Given the description of an element on the screen output the (x, y) to click on. 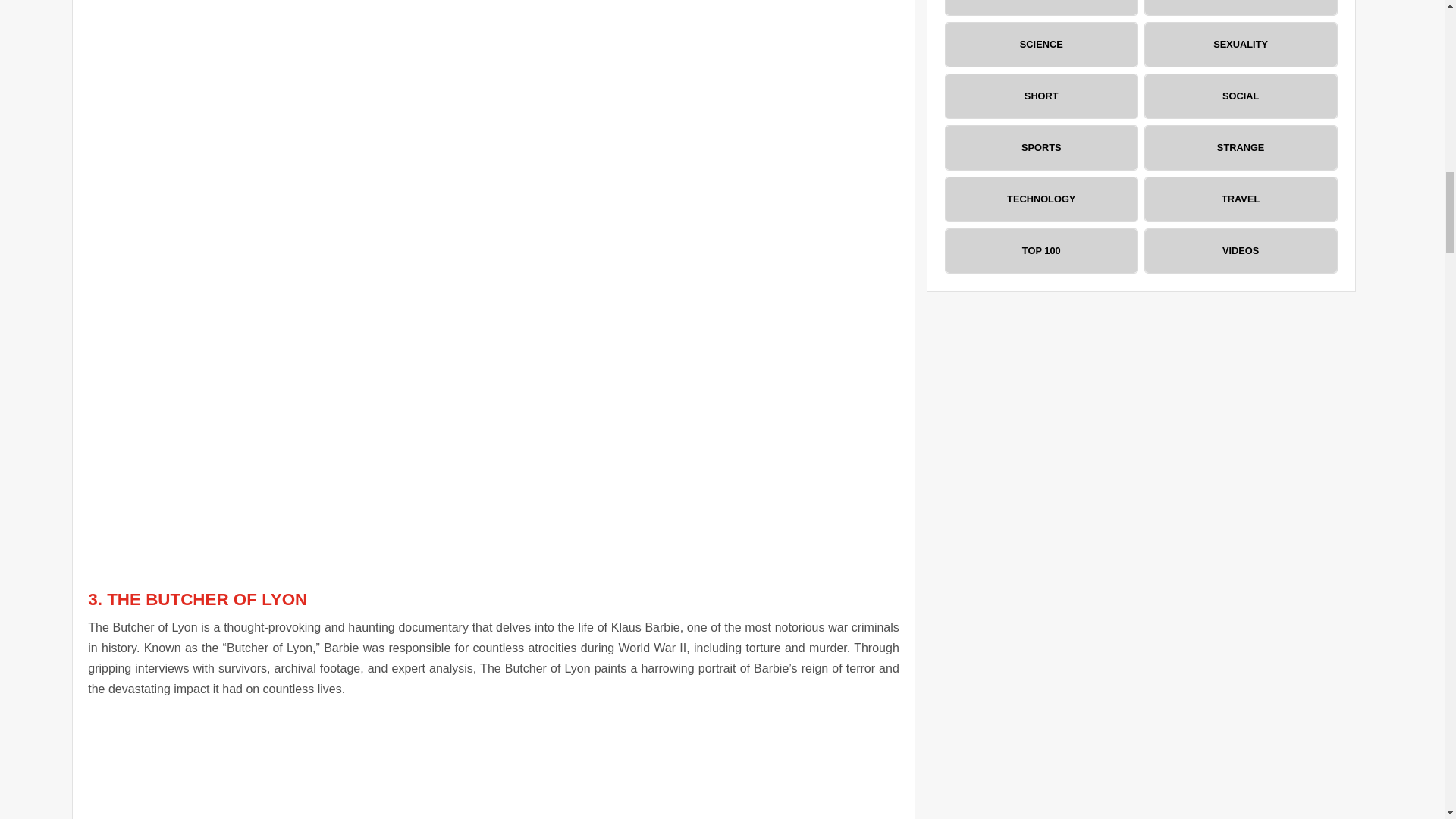
The Butcher of Lyon (493, 765)
